Given the description of an element on the screen output the (x, y) to click on. 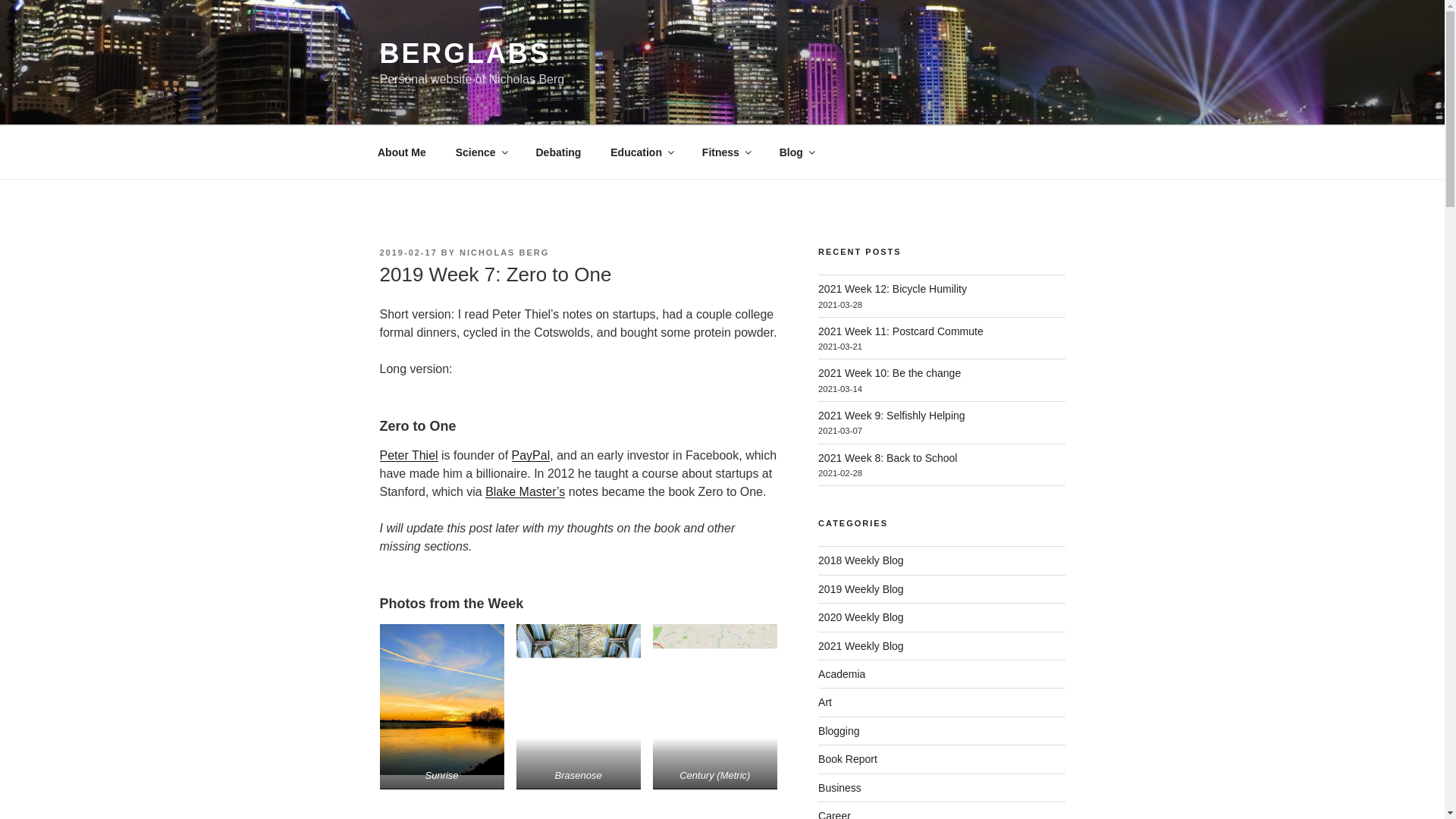
About Me (401, 151)
Fitness (725, 151)
Debating (558, 151)
2019-02-17 (407, 252)
Science (480, 151)
NICHOLAS BERG (504, 252)
Blog (796, 151)
PayPal (531, 454)
Education (640, 151)
Peter Thiel (408, 454)
BERGLABS (464, 52)
